Given the description of an element on the screen output the (x, y) to click on. 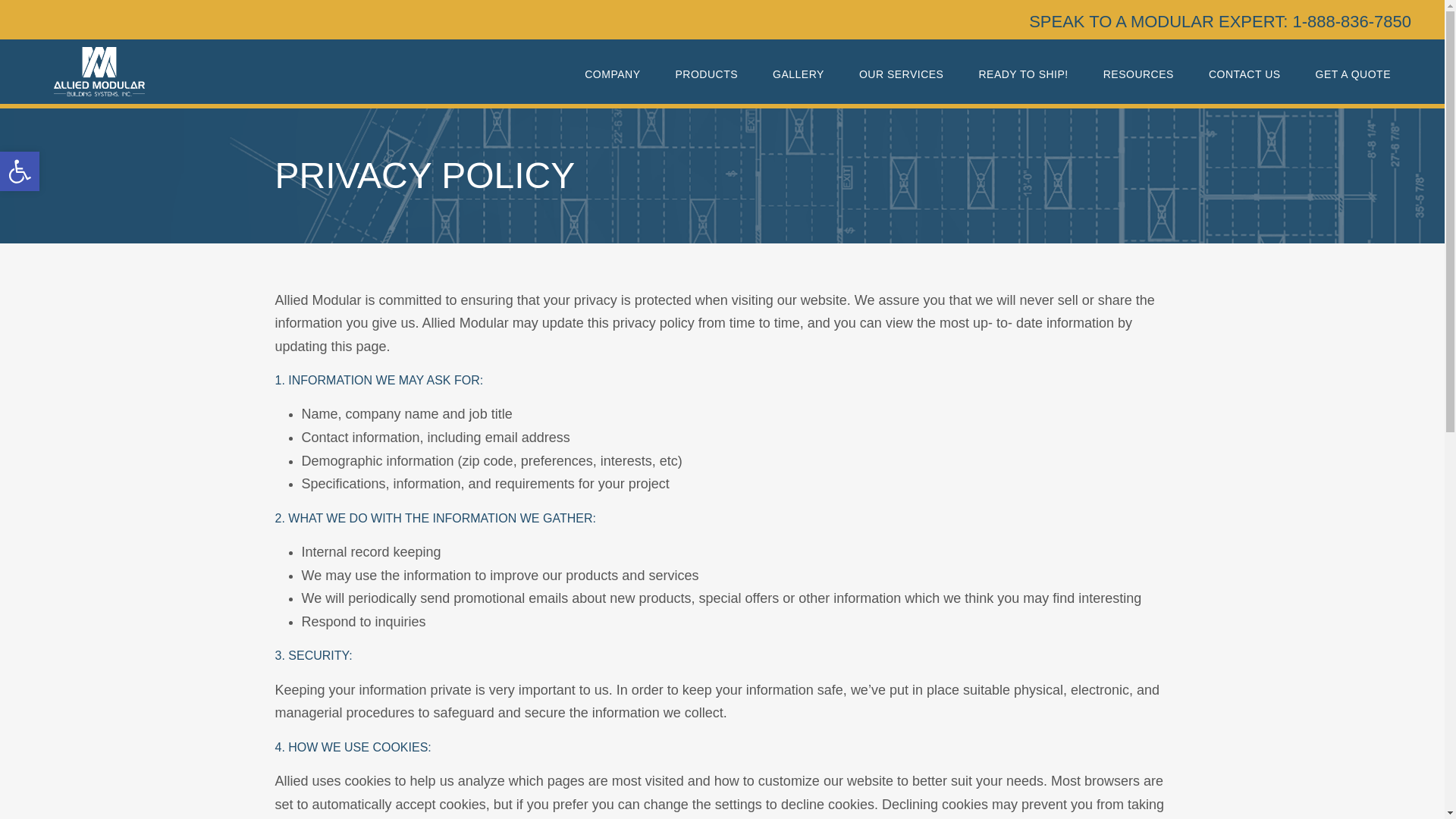
COMPANY (612, 80)
PRODUCTS (706, 80)
Accessibility Tools (19, 170)
Accessibility Tools (19, 170)
Call Allied Modular (19, 170)
1-888-836-7850 (1351, 21)
